Given the description of an element on the screen output the (x, y) to click on. 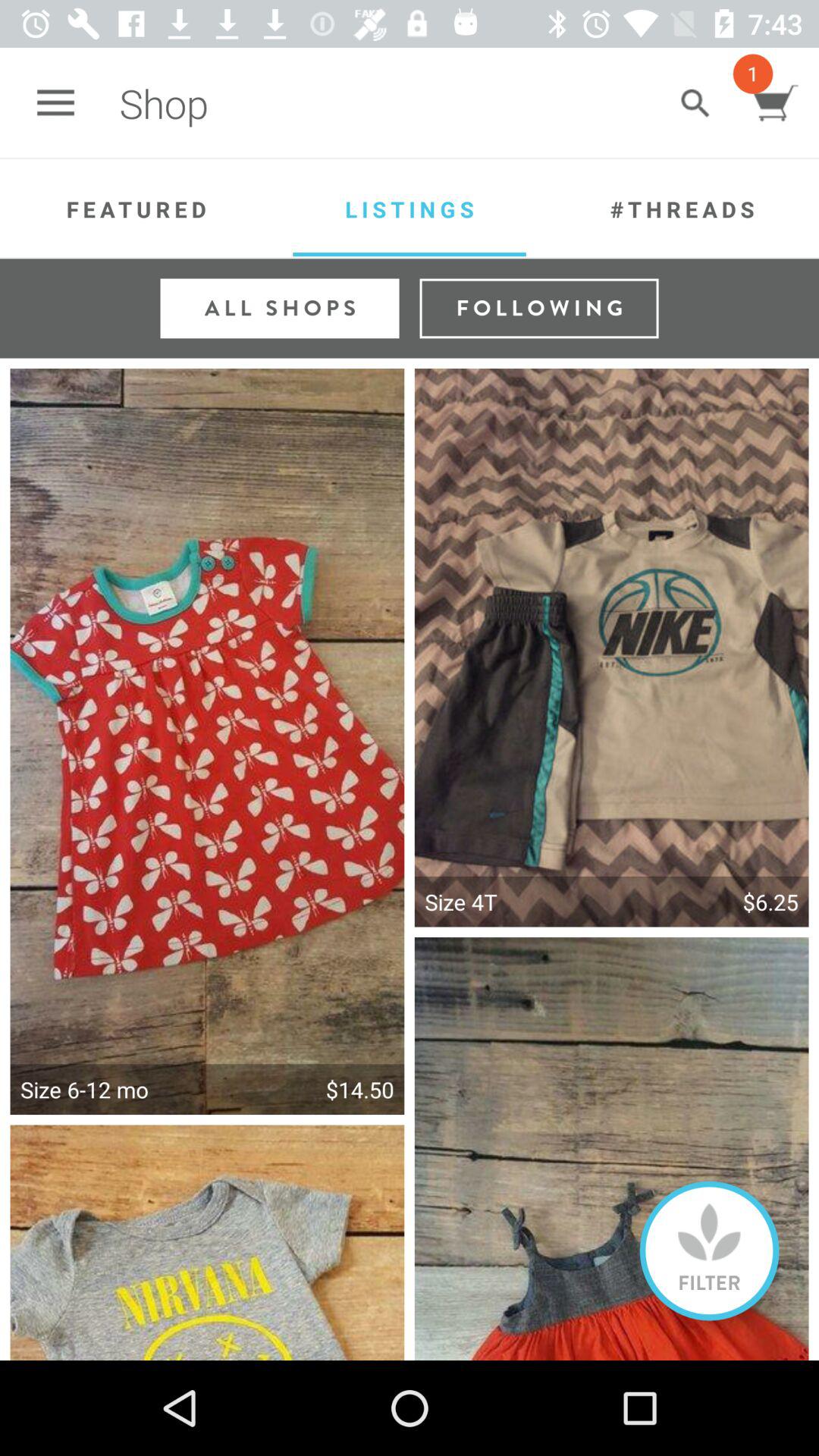
flip until all shops (279, 308)
